Given the description of an element on the screen output the (x, y) to click on. 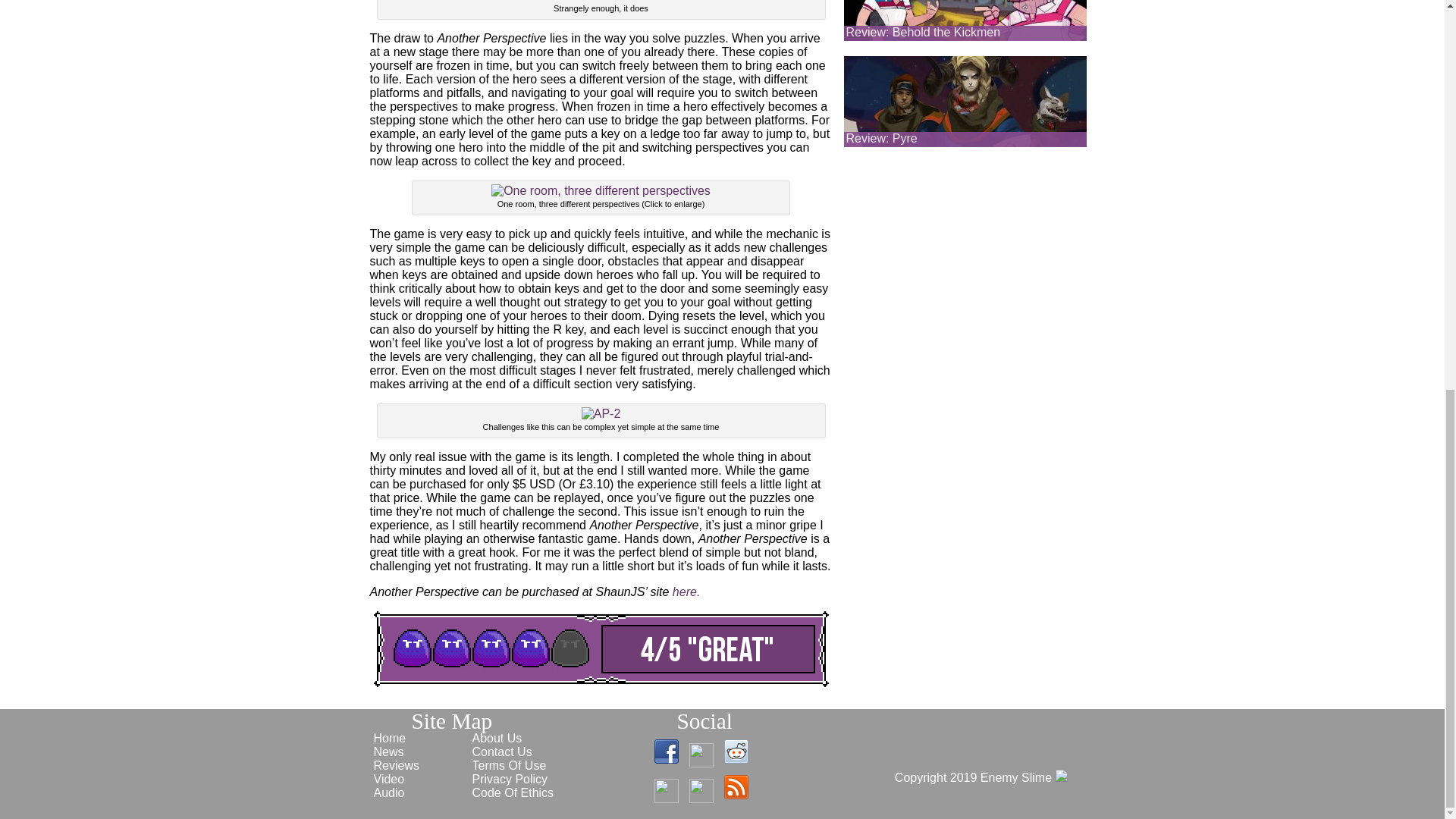
Review: Behold the Kickmen (923, 31)
Contact Us (501, 751)
Video (388, 779)
Permanent Link to Review: Pyre (881, 137)
Permanent Link to Review: Behold the Kickmen (923, 31)
About Us (496, 738)
Advertisement (964, 248)
Code Of Ethics (512, 792)
here. (686, 591)
Reviews (395, 765)
Review: Pyre (881, 137)
Home (389, 738)
Another Perspective (686, 591)
Terms Of Use (508, 765)
Privacy Policy (509, 779)
